Given the description of an element on the screen output the (x, y) to click on. 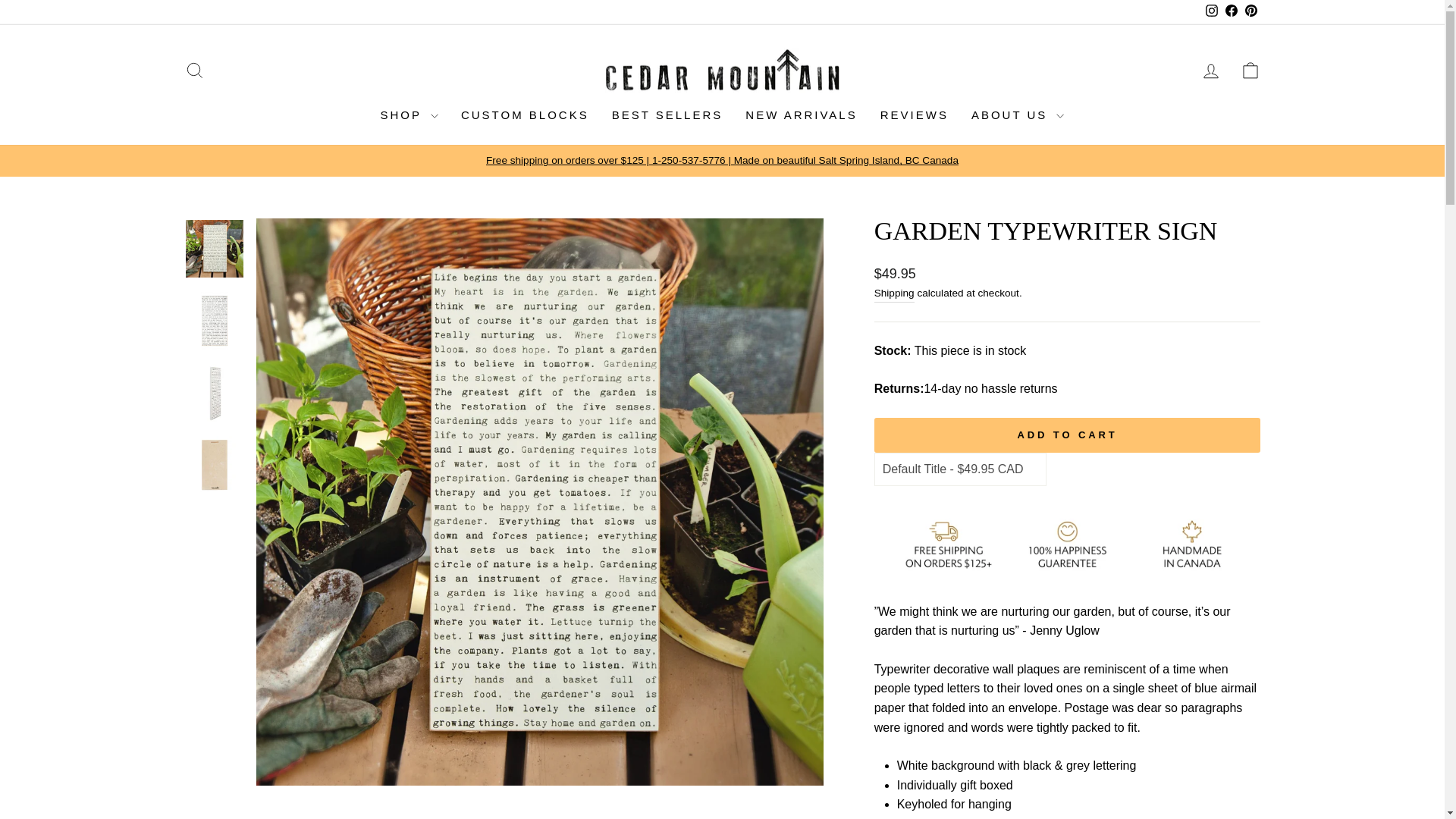
ICON-BAG-MINIMAL (1249, 70)
instagram (1211, 10)
ACCOUNT (1210, 70)
ICON-SEARCH (194, 70)
